Given the description of an element on the screen output the (x, y) to click on. 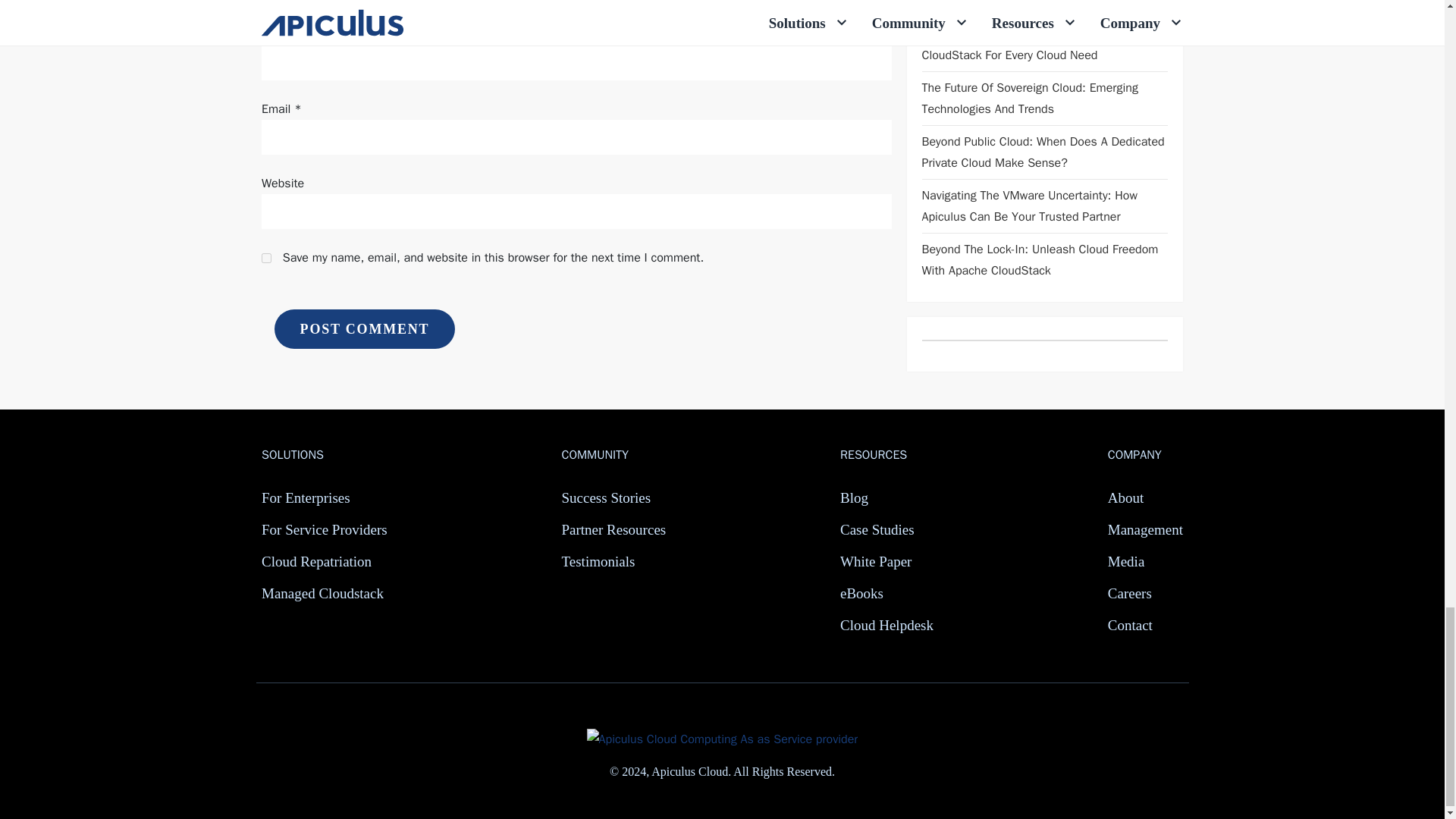
yes (266, 257)
Post Comment (364, 328)
